Given the description of an element on the screen output the (x, y) to click on. 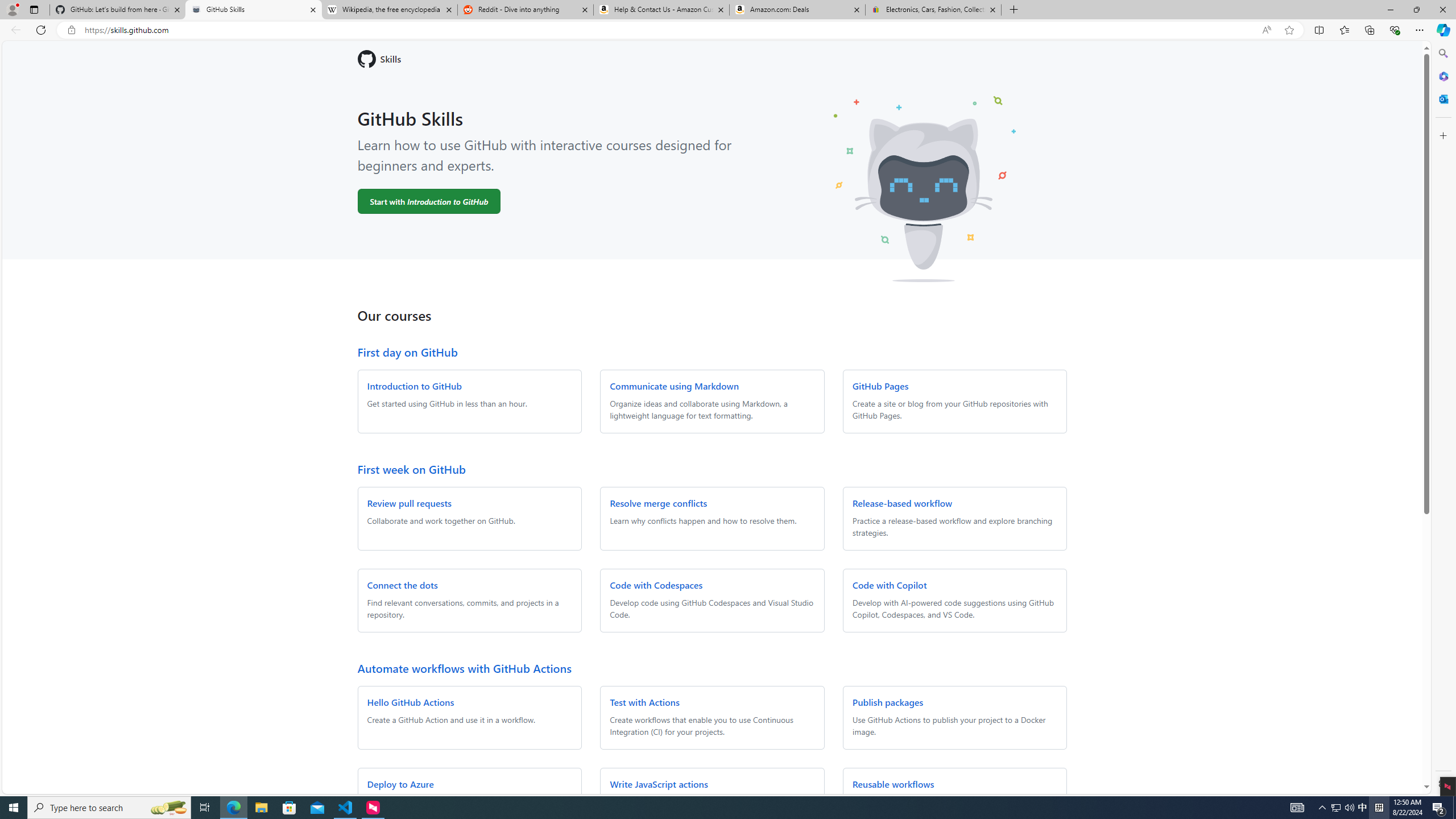
Release-based workflow (901, 503)
Introduction to GitHub (413, 385)
First day on GitHub (406, 351)
GitHub Skills (253, 9)
